Given the description of an element on the screen output the (x, y) to click on. 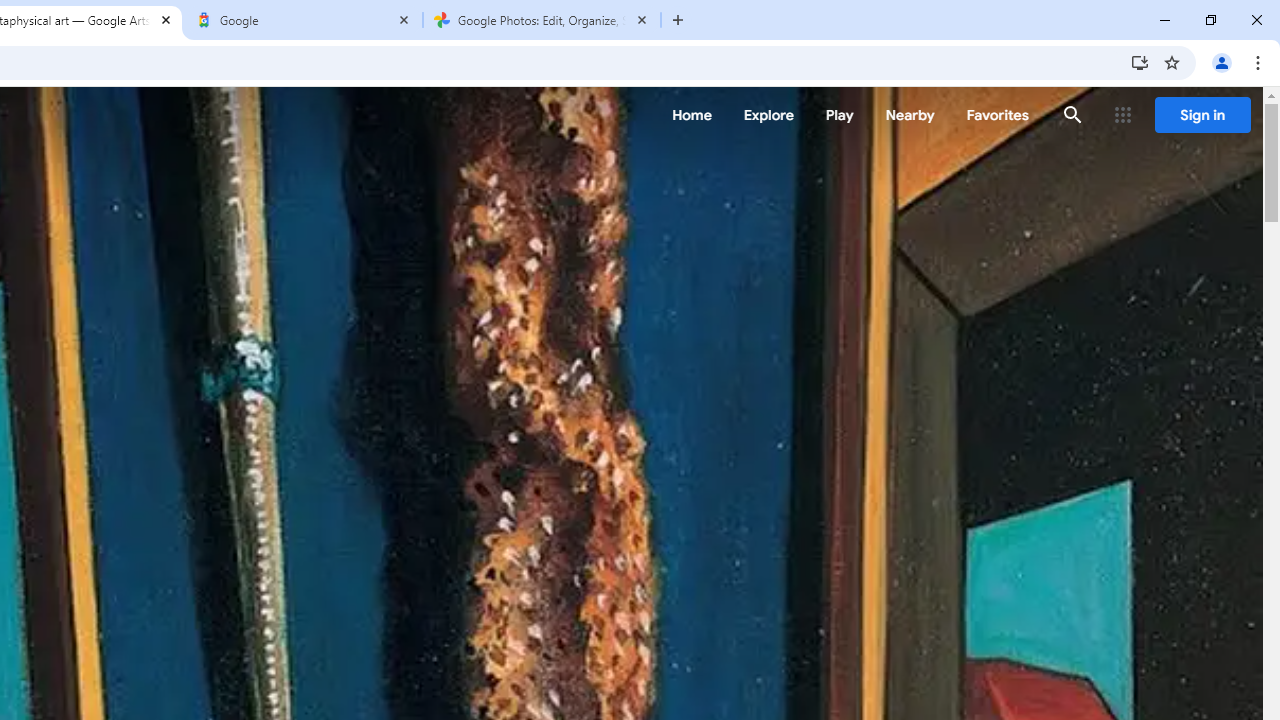
Google (304, 20)
Play (840, 115)
Favorites (996, 115)
